Given the description of an element on the screen output the (x, y) to click on. 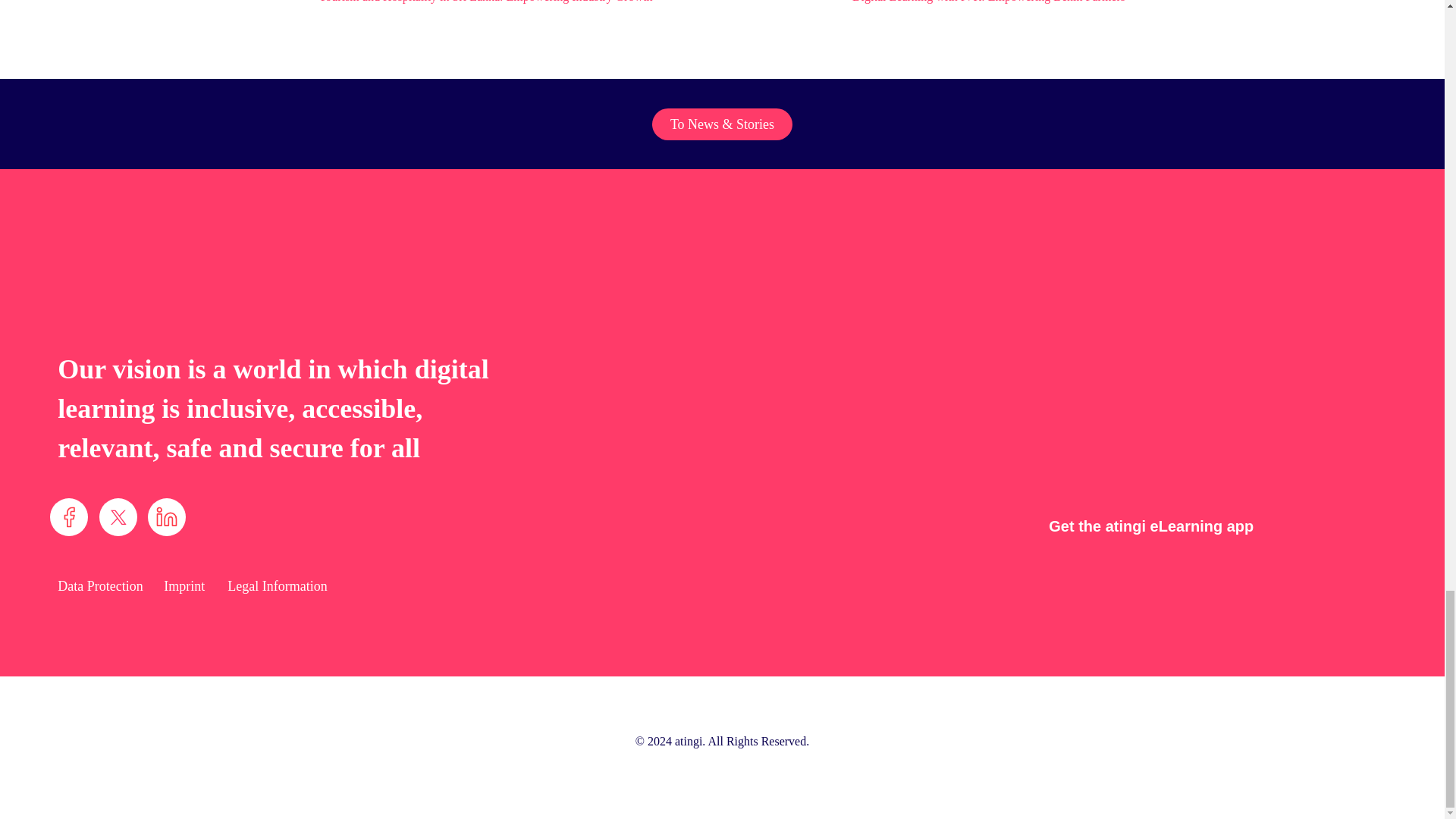
play-store-badge (1314, 522)
giz-full-logo (1291, 747)
